Given the description of an element on the screen output the (x, y) to click on. 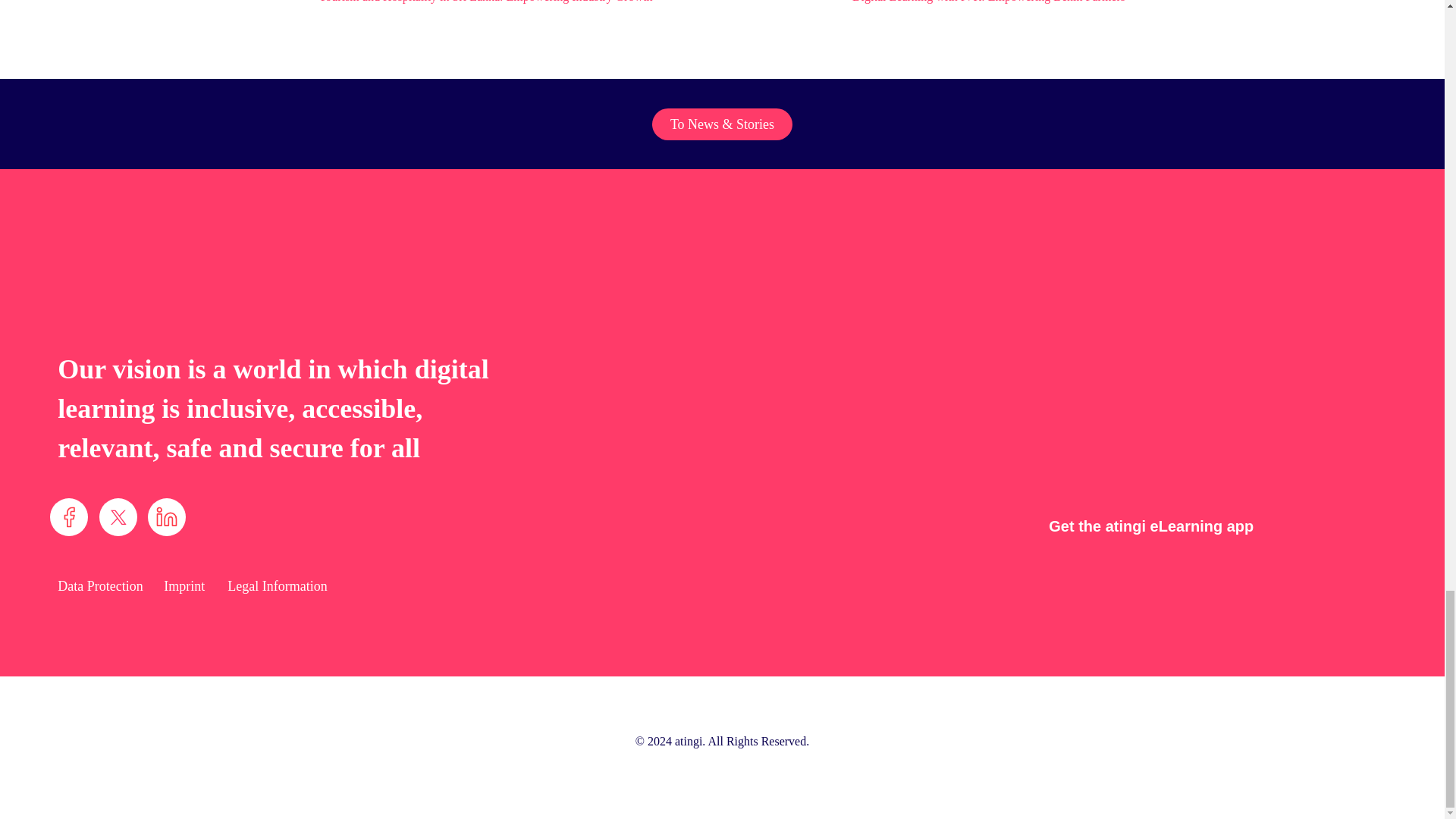
play-store-badge (1314, 522)
giz-full-logo (1291, 747)
